Given the description of an element on the screen output the (x, y) to click on. 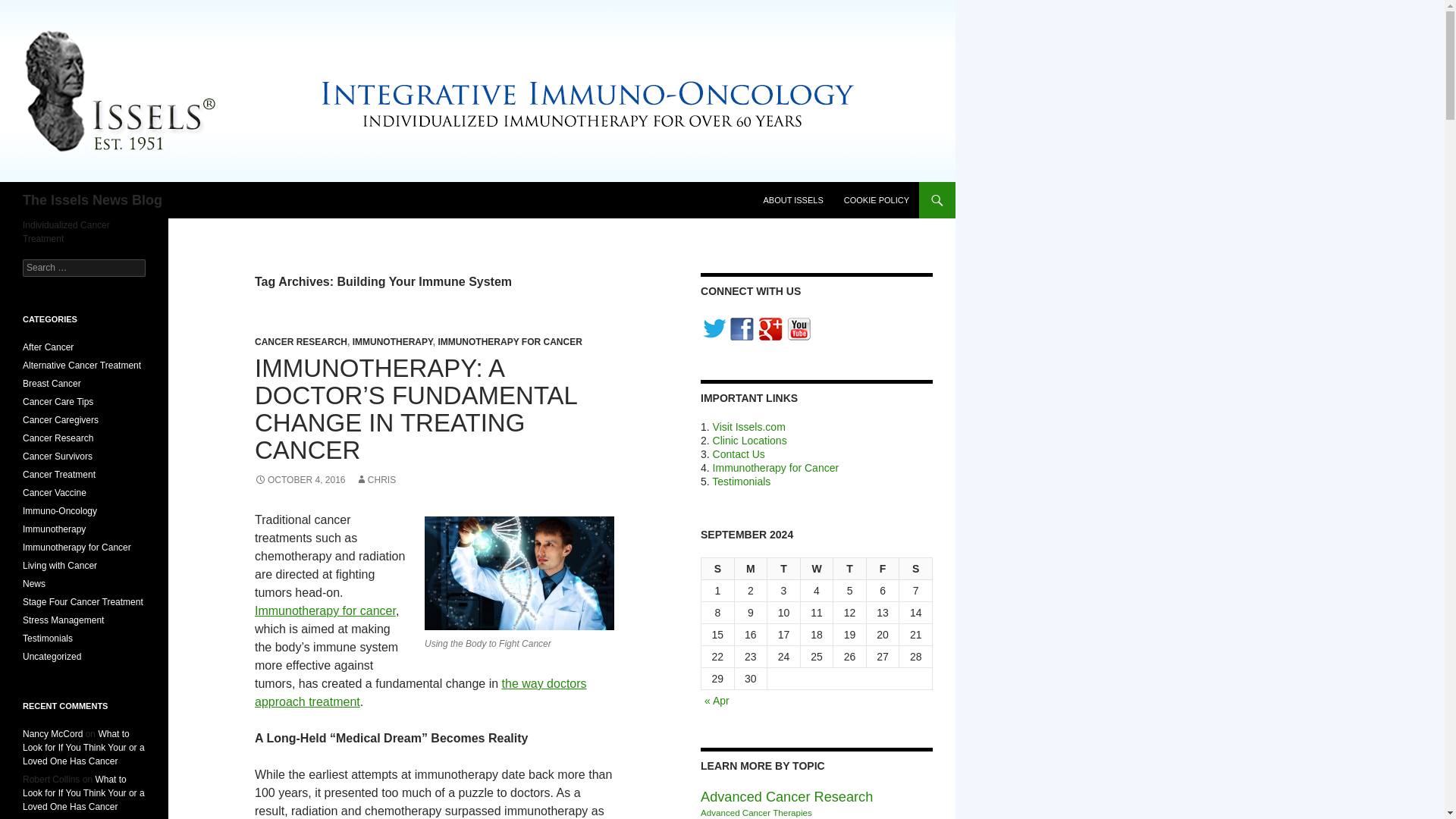
the way doctors approach treatment (420, 692)
CANCER RESEARCH (300, 341)
Friday (882, 568)
Monday (751, 568)
IMMUNOTHERAPY (392, 341)
Thursday (849, 568)
IMMUNOTHERAPY FOR CANCER (509, 341)
The Issels News Blog (92, 199)
CHRIS (375, 480)
